Given the description of an element on the screen output the (x, y) to click on. 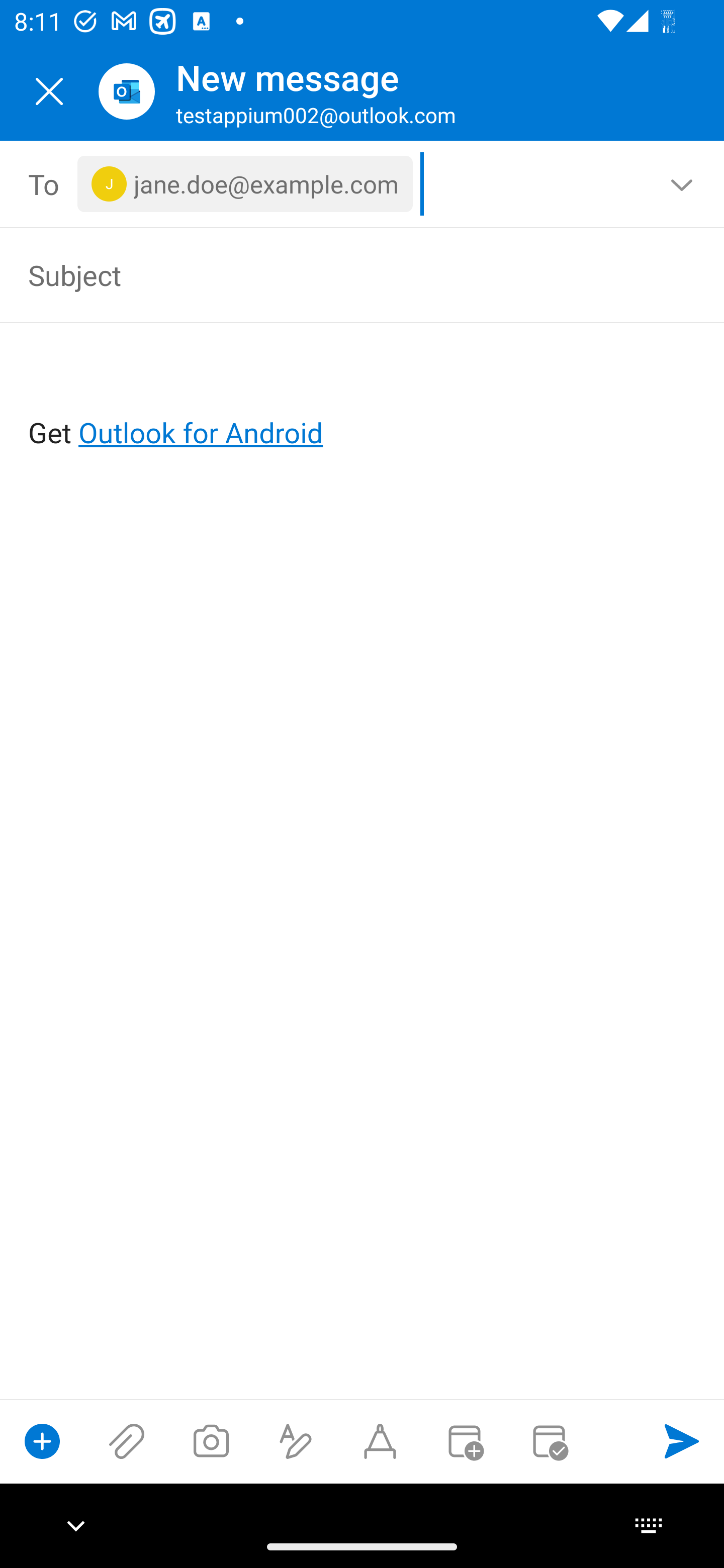
Close (49, 91)
To, 1 recipient <jane.doe@example.com> (362, 184)
Subject (333, 274)


Get Outlook for Android (363, 400)
Show compose options (42, 1440)
Attach files (126, 1440)
Take a photo (210, 1440)
Show formatting options (295, 1440)
Start Ink compose (380, 1440)
Convert to event (464, 1440)
Send availability (548, 1440)
Send (681, 1440)
